Given the description of an element on the screen output the (x, y) to click on. 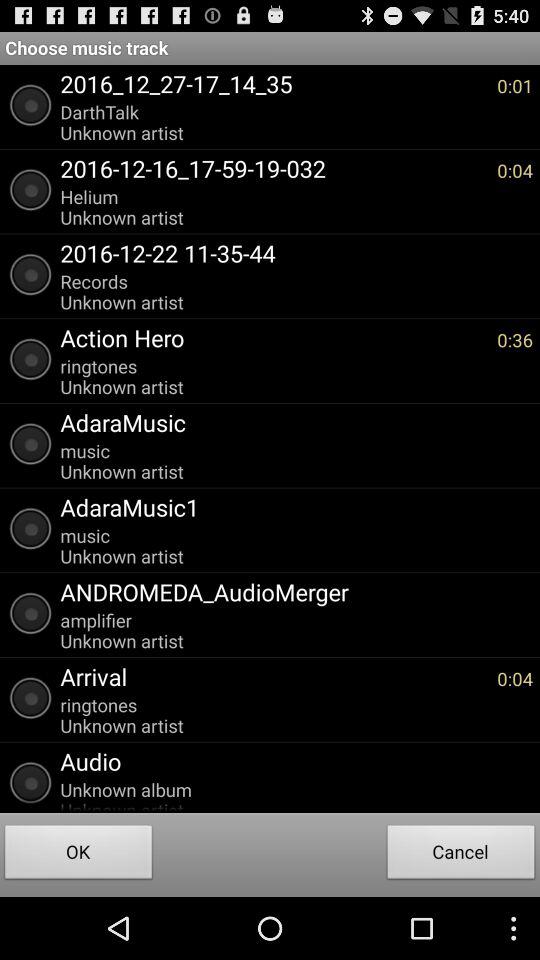
choose app above the music
unknown artist icon (291, 422)
